Given the description of an element on the screen output the (x, y) to click on. 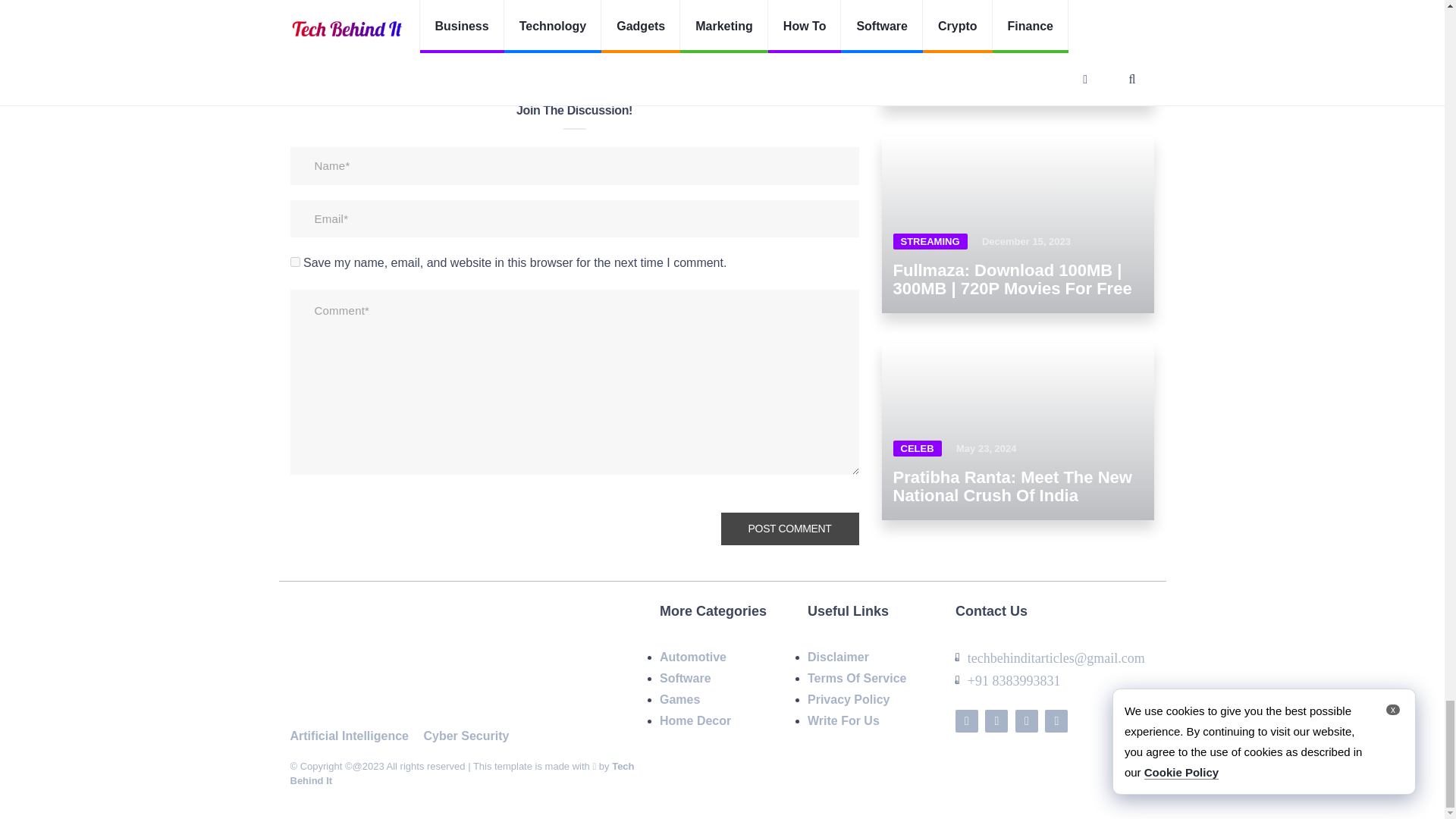
yes (294, 261)
Post Comment (789, 528)
What You Need to Know About Dell Network Cards (574, 12)
